Given the description of an element on the screen output the (x, y) to click on. 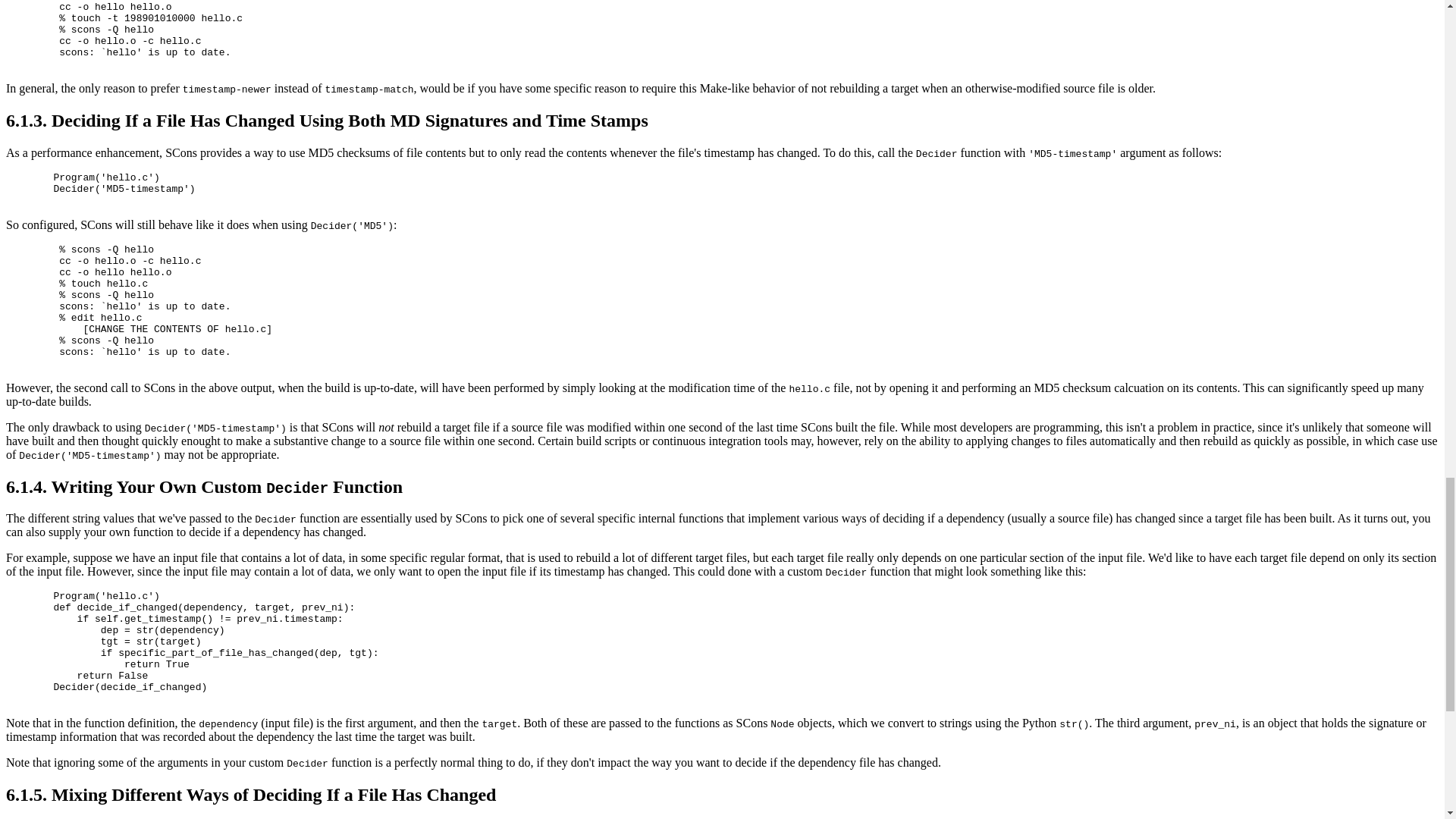
6.1.4. Writing Your Own Custom Decider Function (204, 486)
